Given the description of an element on the screen output the (x, y) to click on. 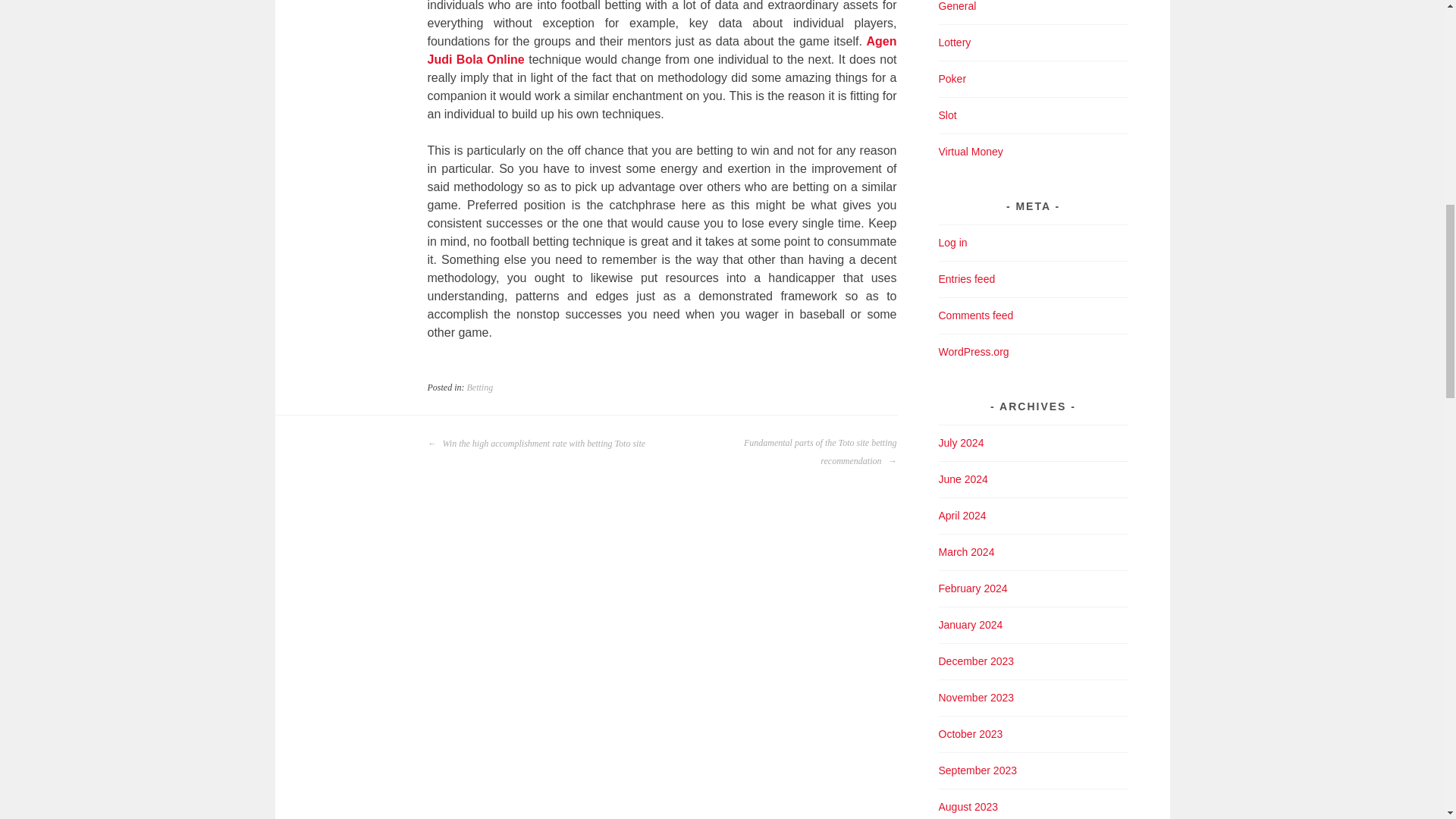
Lottery (955, 42)
February 2024 (973, 588)
Virtual Money (971, 151)
Poker (952, 78)
 Win the high accomplishment rate with betting Toto site (537, 443)
Betting (480, 387)
Log in (953, 242)
Slot (947, 114)
Entries feed (967, 278)
WordPress.org (974, 351)
